Given the description of an element on the screen output the (x, y) to click on. 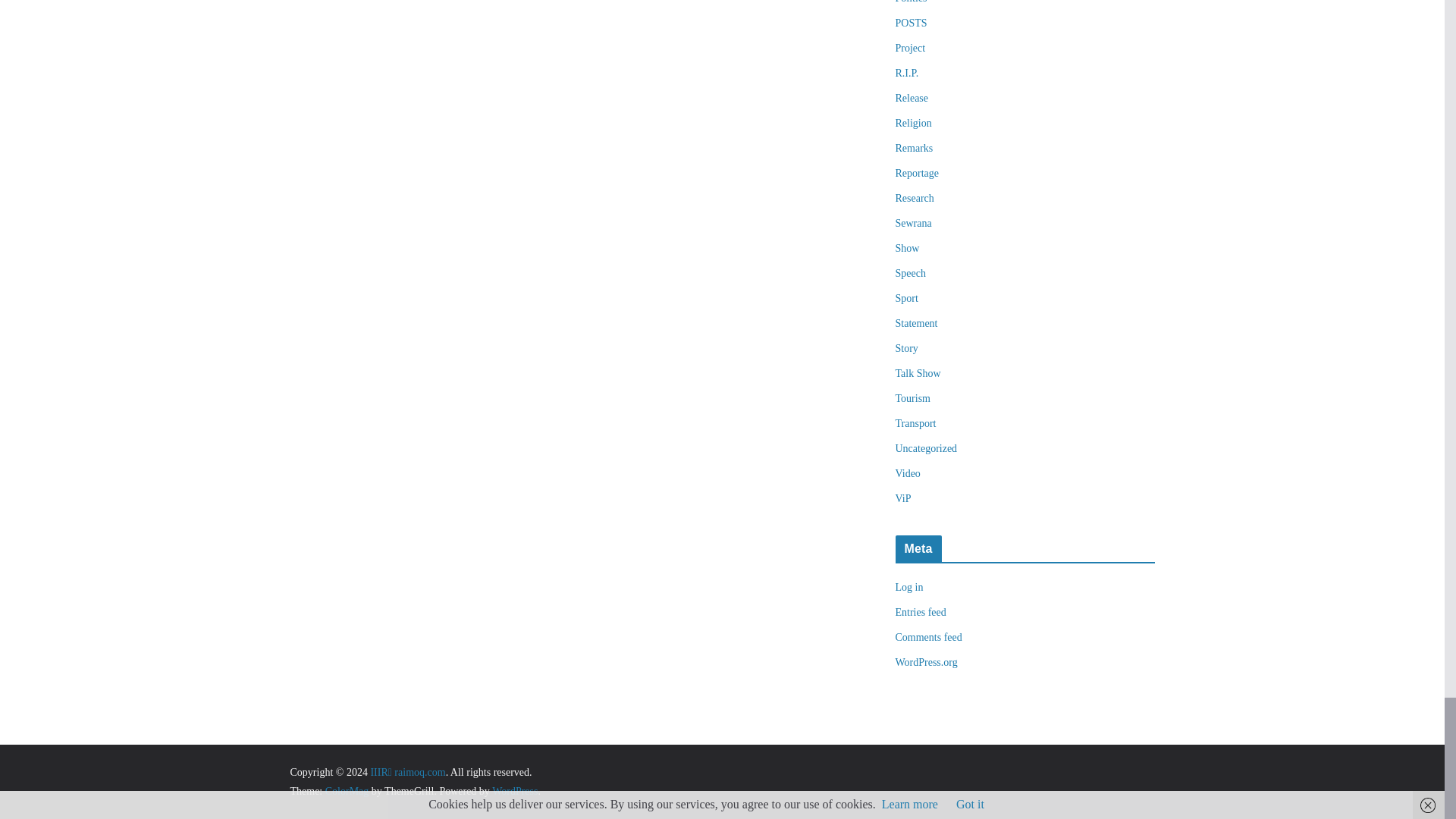
ColorMag (346, 790)
WordPress (514, 790)
